Given the description of an element on the screen output the (x, y) to click on. 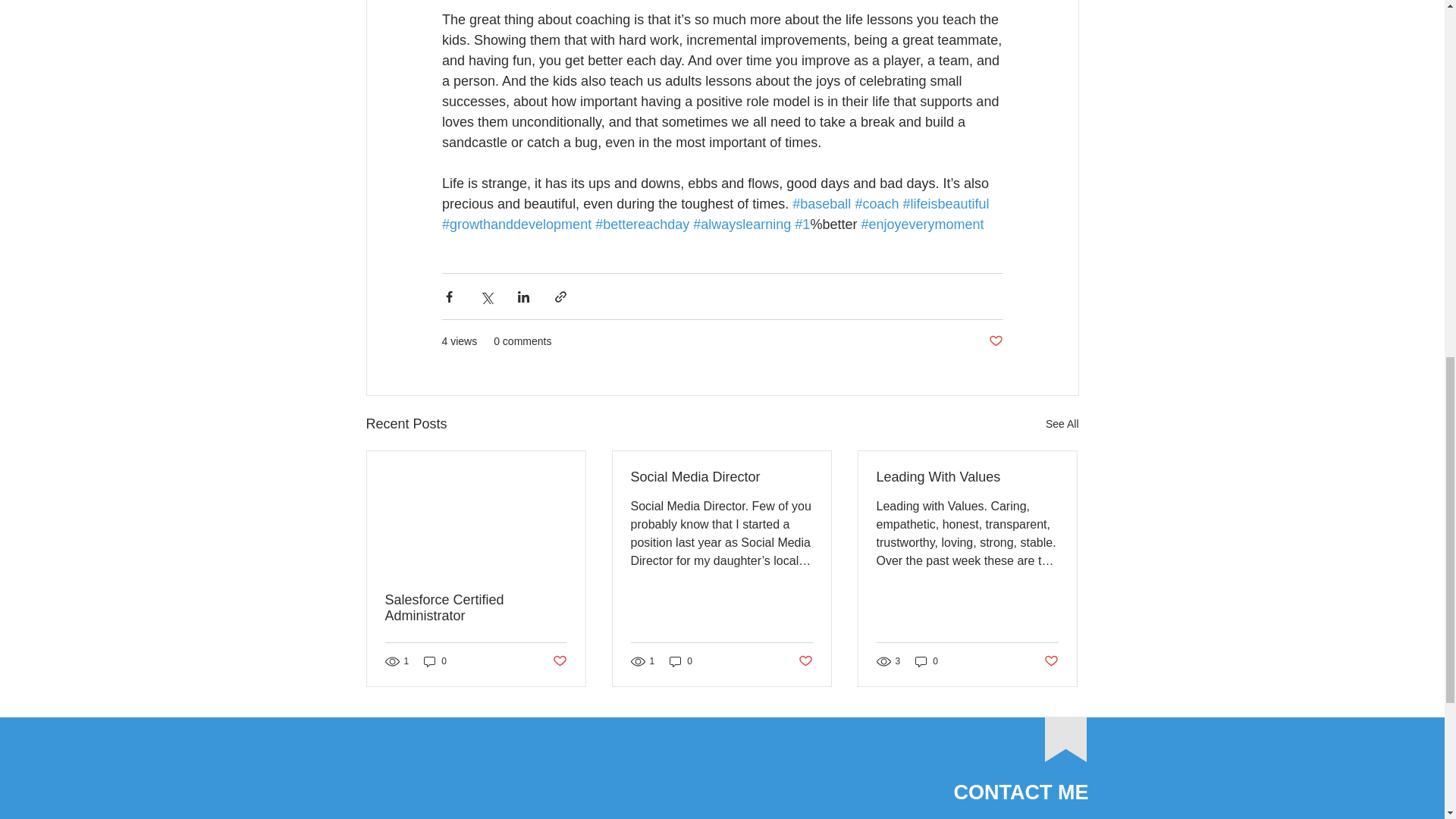
Salesforce Certified Administrator (476, 608)
0 (435, 660)
Post not marked as liked (558, 661)
Post not marked as liked (804, 661)
See All (1061, 423)
0 (681, 660)
Social Media Director (721, 477)
Post not marked as liked (995, 341)
Leading With Values (967, 477)
Post not marked as liked (1050, 661)
0 (926, 660)
